Given the description of an element on the screen output the (x, y) to click on. 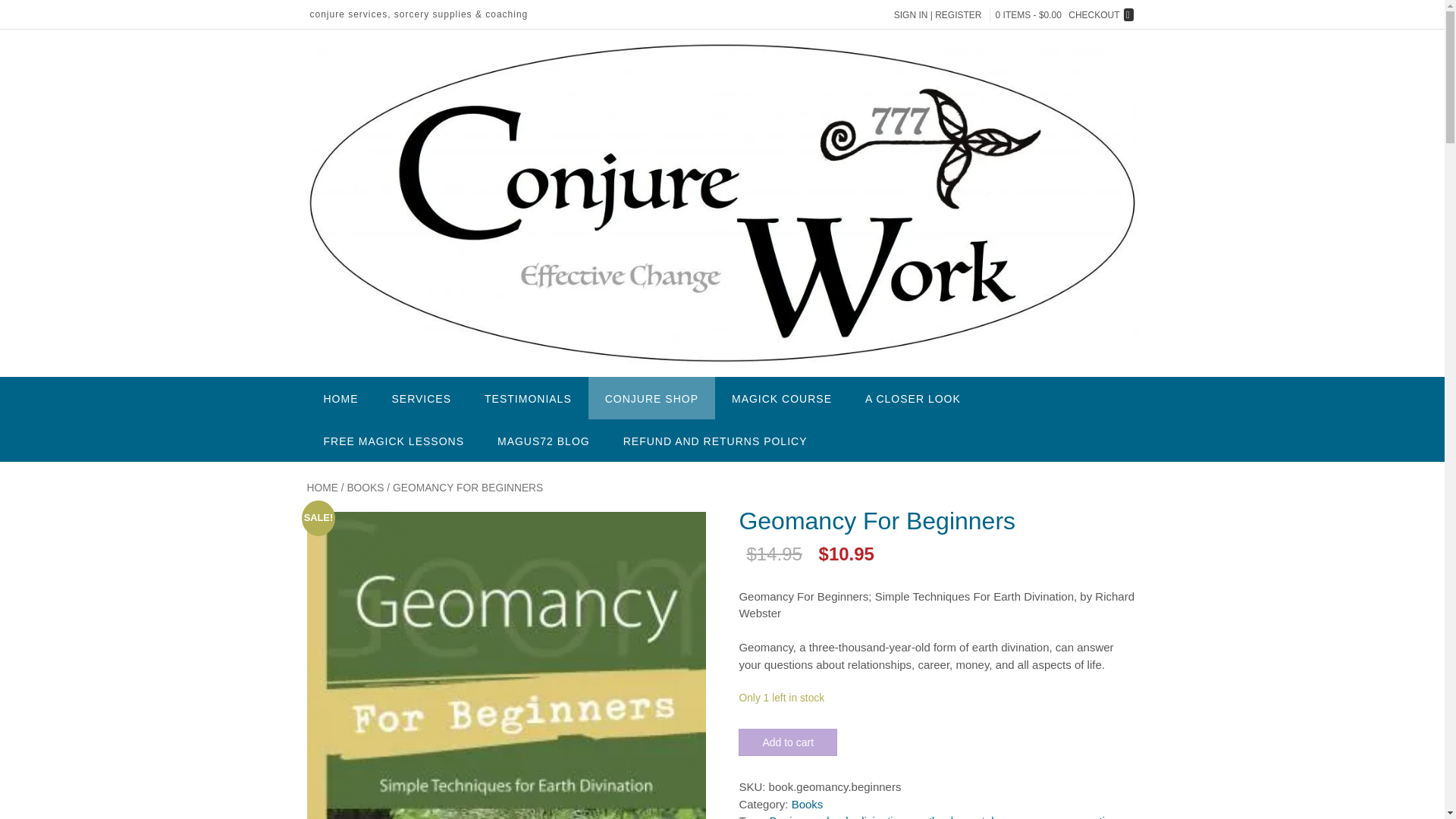
CONJURE SHOP (651, 397)
A CLOSER LOOK (912, 397)
MAGICK COURSE (781, 397)
SERVICES (420, 397)
HOME (339, 397)
TESTIMONIALS (527, 397)
FREE MAGICK LESSONS (392, 440)
